Given the description of an element on the screen output the (x, y) to click on. 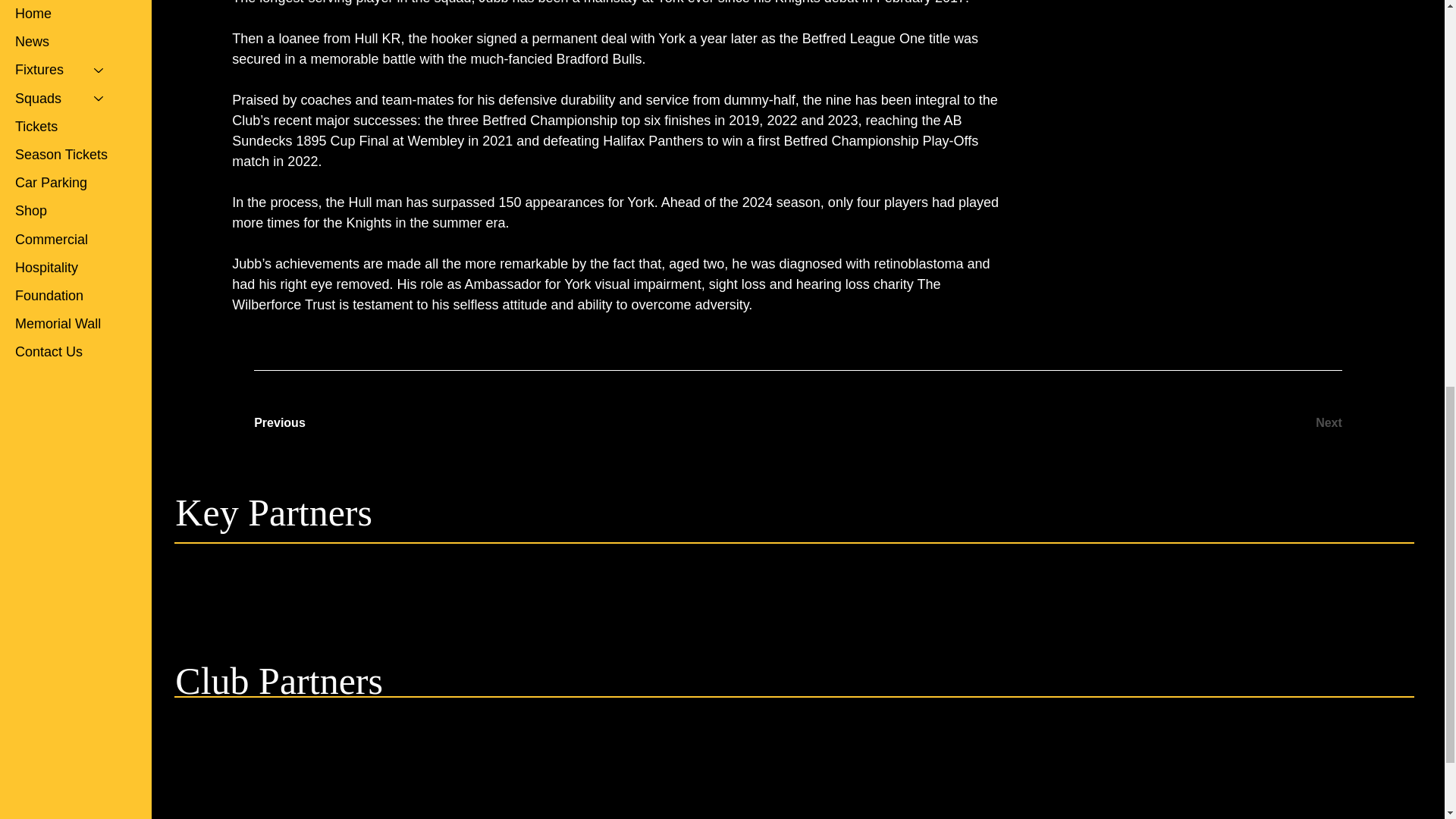
Next (1288, 423)
Previous (307, 423)
